Given the description of an element on the screen output the (x, y) to click on. 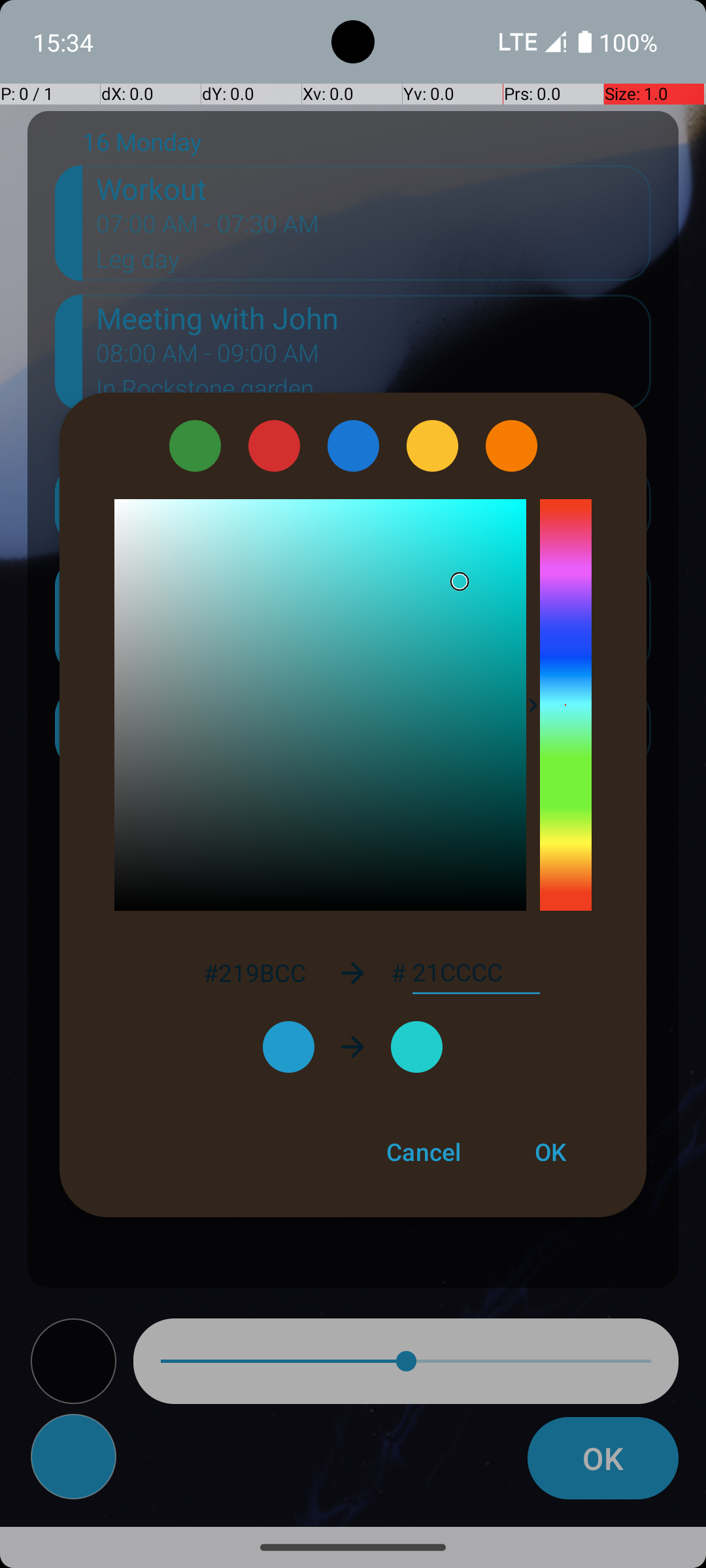
#219BCC Element type: android.widget.TextView (254, 972)
21CCCC Element type: android.widget.EditText (475, 972)
